Given the description of an element on the screen output the (x, y) to click on. 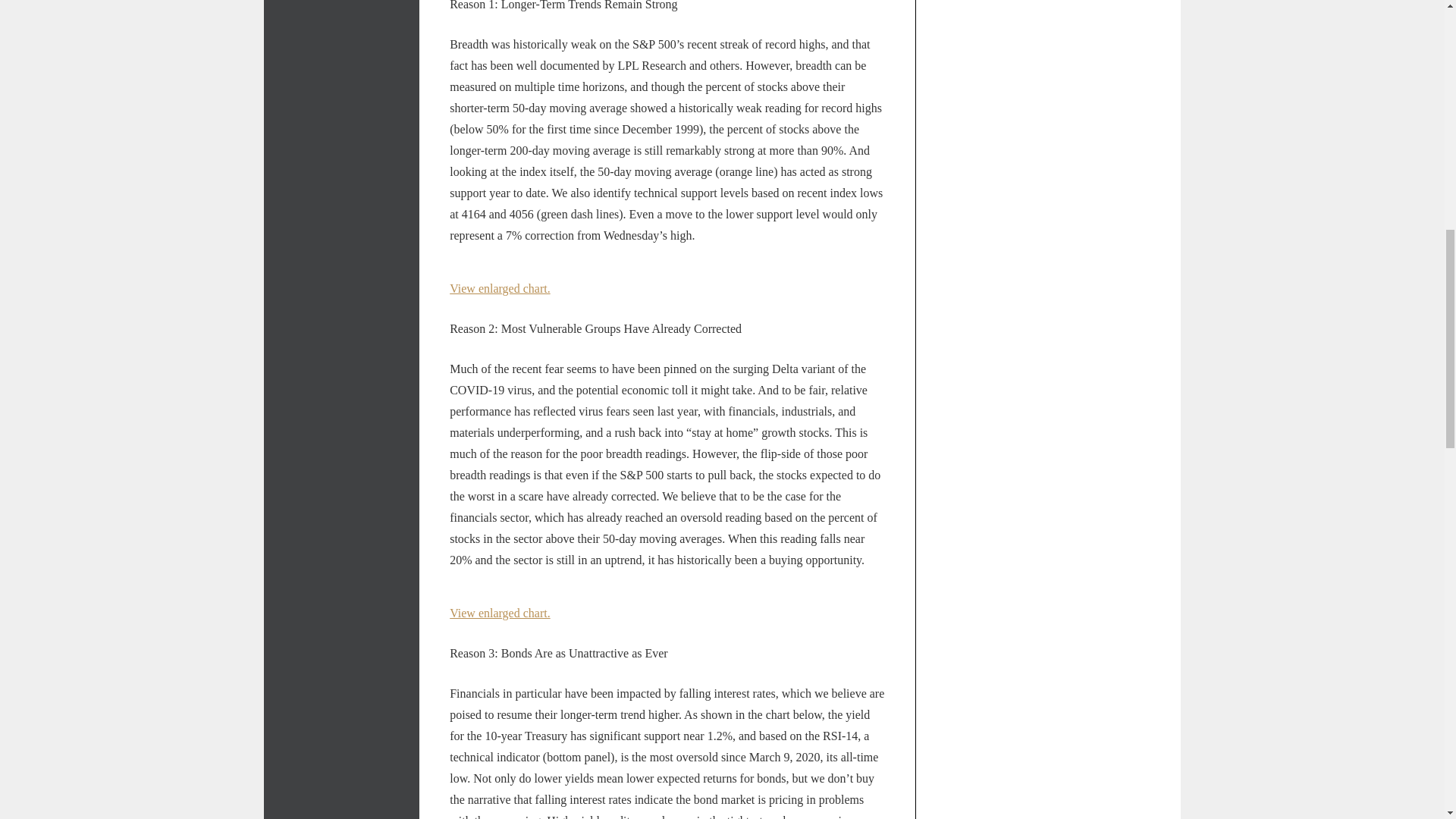
View enlarged chart. (499, 287)
View enlarged chart. (499, 612)
